Given the description of an element on the screen output the (x, y) to click on. 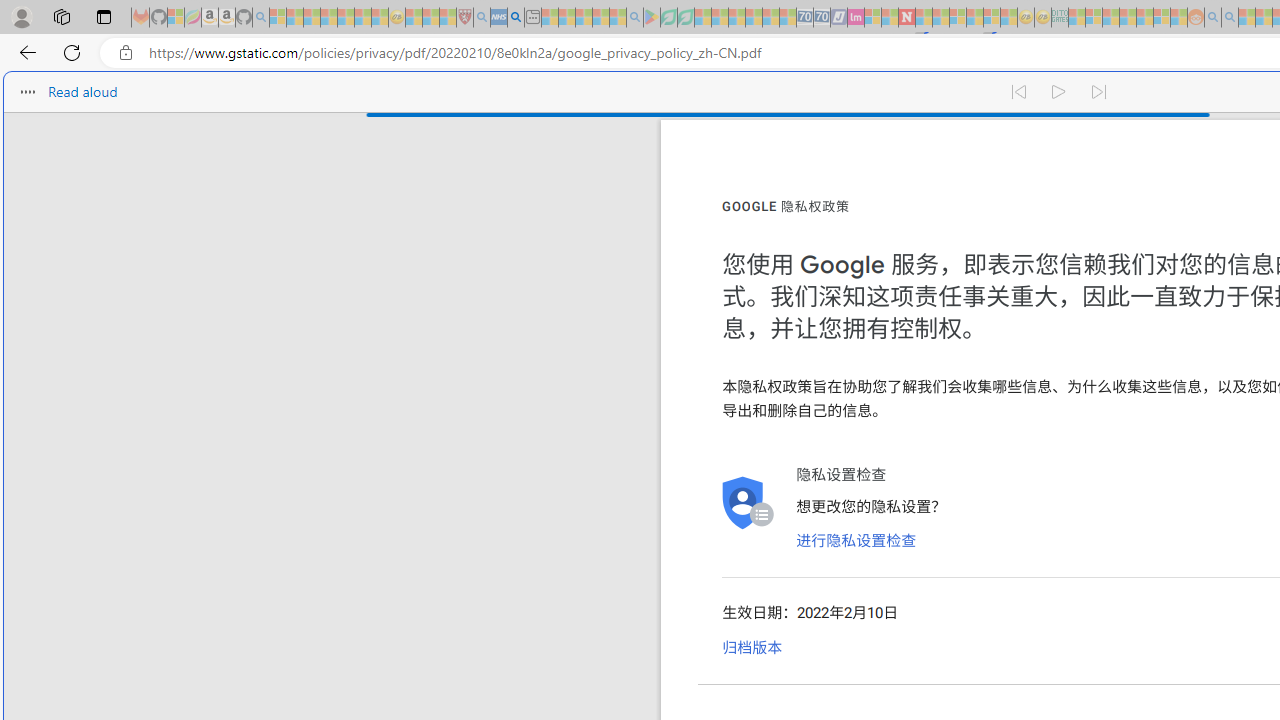
Local - MSN - Sleeping (447, 17)
Expert Portfolios - Sleeping (1128, 17)
